Given the description of an element on the screen output the (x, y) to click on. 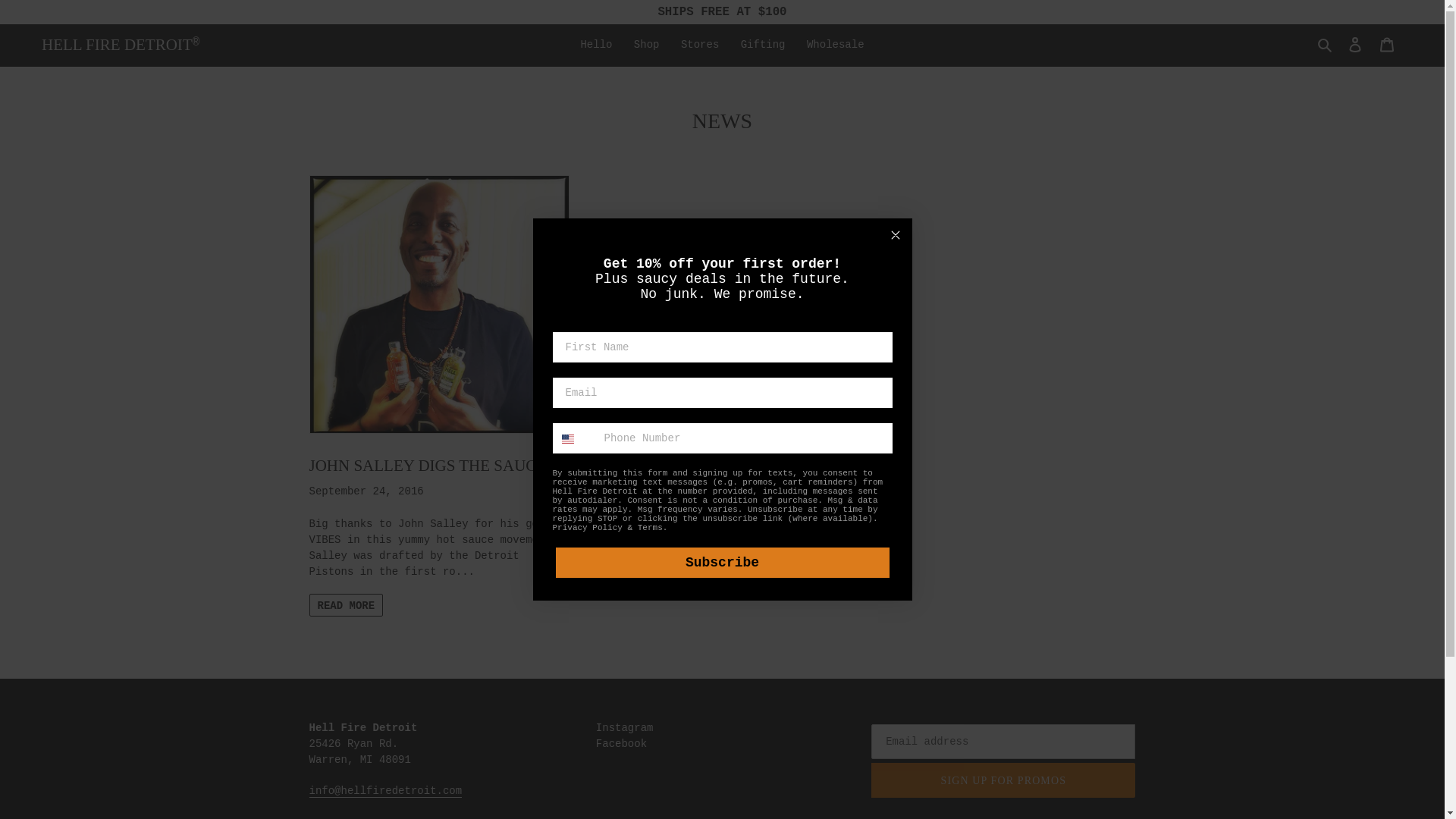
SIGN UP FOR PROMOS (1002, 779)
Cart (1387, 44)
Instagram (624, 727)
Privacy Policy (586, 527)
READ MORE (346, 604)
Hello (596, 45)
Stores (699, 45)
Search (1326, 45)
United States (566, 439)
Log in (1355, 44)
Submit (33, 14)
Shop (646, 45)
JOHN SALLEY DIGS THE SAUCE! (438, 325)
Facebook (620, 743)
Subscribe (721, 562)
